Given the description of an element on the screen output the (x, y) to click on. 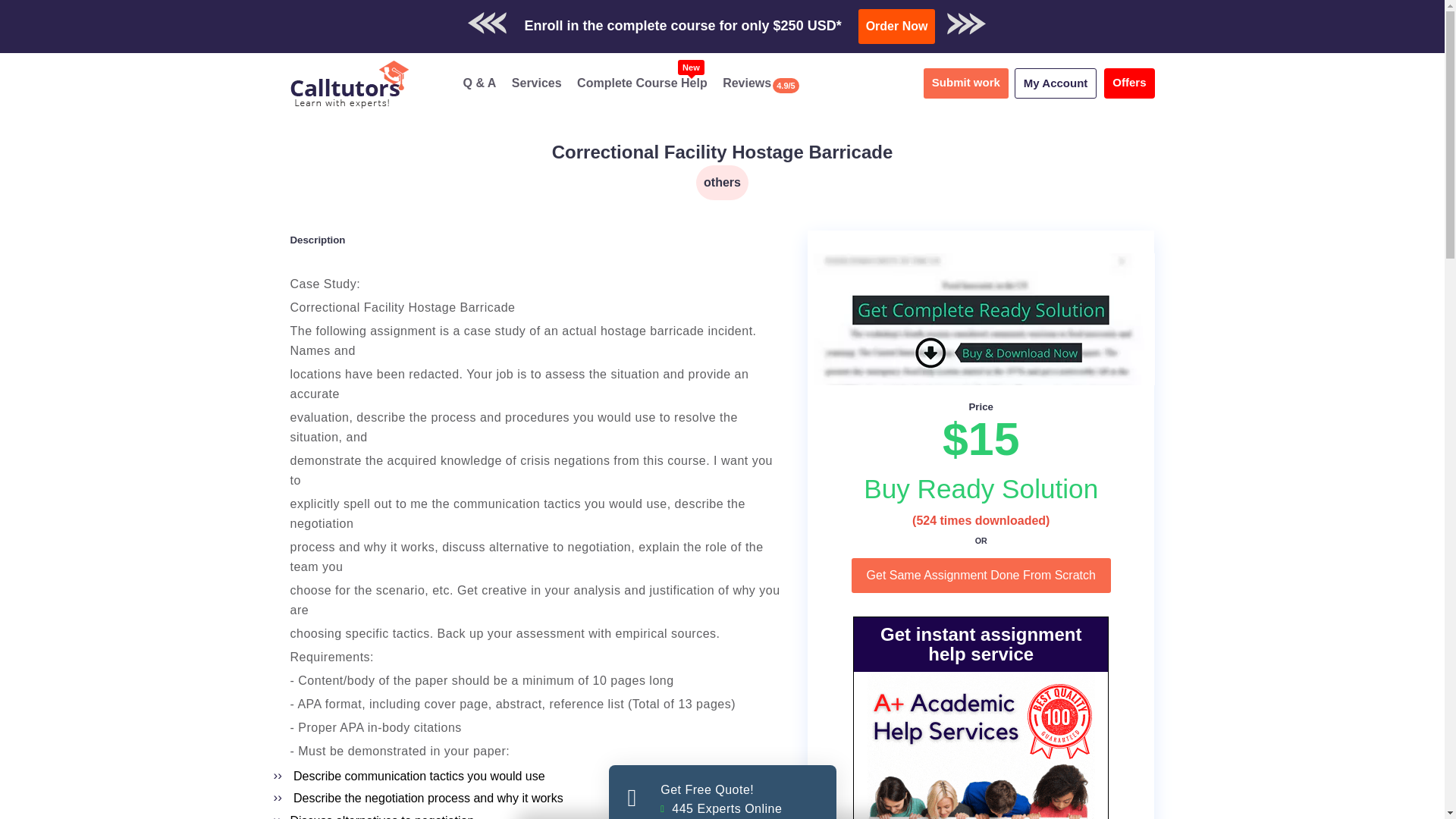
Offers (1128, 82)
Assignment Subject (721, 791)
Submit work (721, 182)
Order Now (966, 82)
Download Sample (897, 26)
Submit Work (901, 18)
Buy Ready Solution (773, 19)
Get Same Assignment Done From Scratch (641, 82)
Assignment Title (981, 488)
Buy Ready Soluion (980, 574)
My Account (721, 152)
Get Same Assignment Done From Scratch (981, 488)
Services (1055, 82)
